Given the description of an element on the screen output the (x, y) to click on. 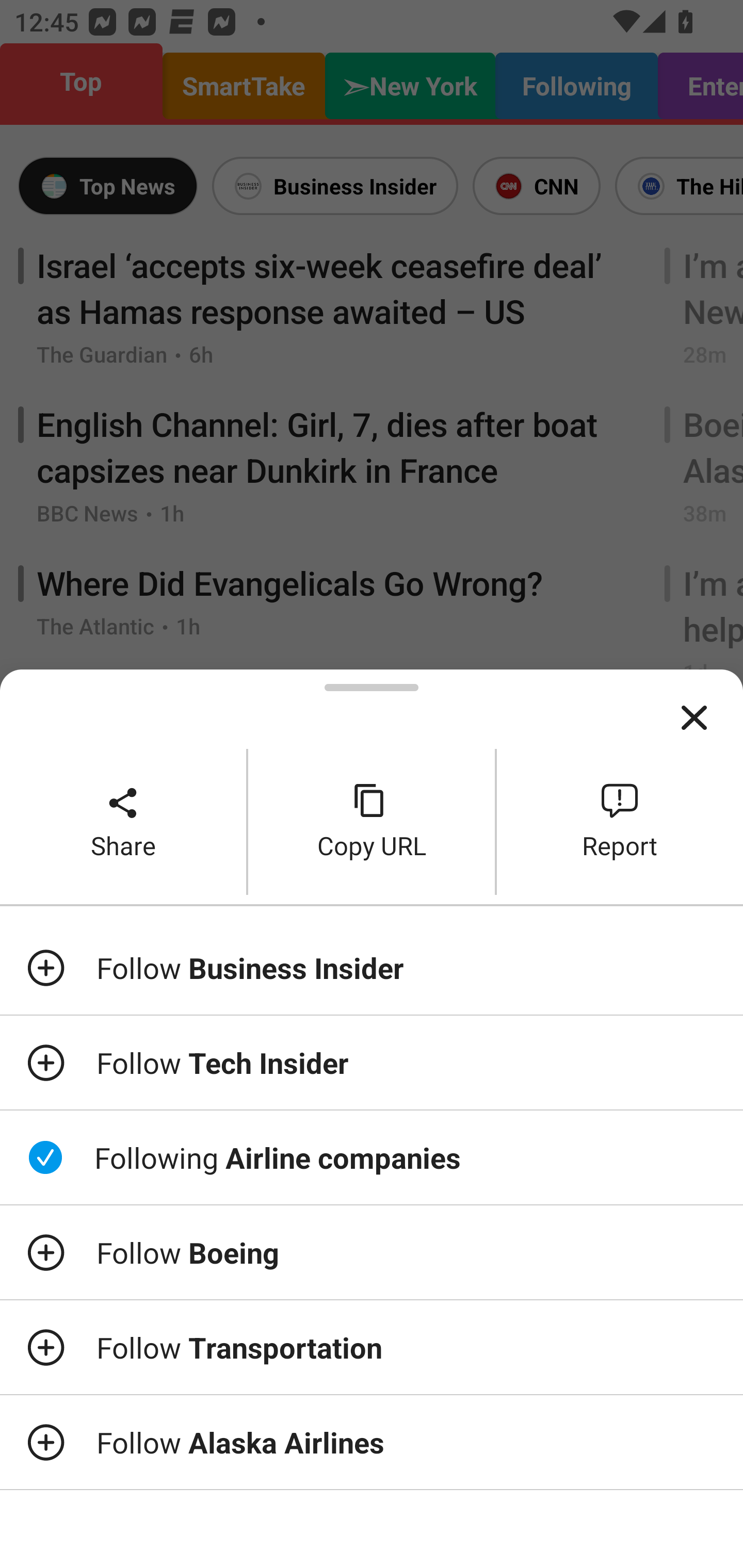
Close (694, 717)
Share (122, 822)
Copy URL (371, 822)
Report (620, 822)
Follow Business Insider (371, 967)
Follow Tech Insider (371, 1063)
Following Airline companies (371, 1157)
Follow Boeing (371, 1252)
Follow Transportation (371, 1346)
Follow Alaska Airlines (371, 1442)
